Given the description of an element on the screen output the (x, y) to click on. 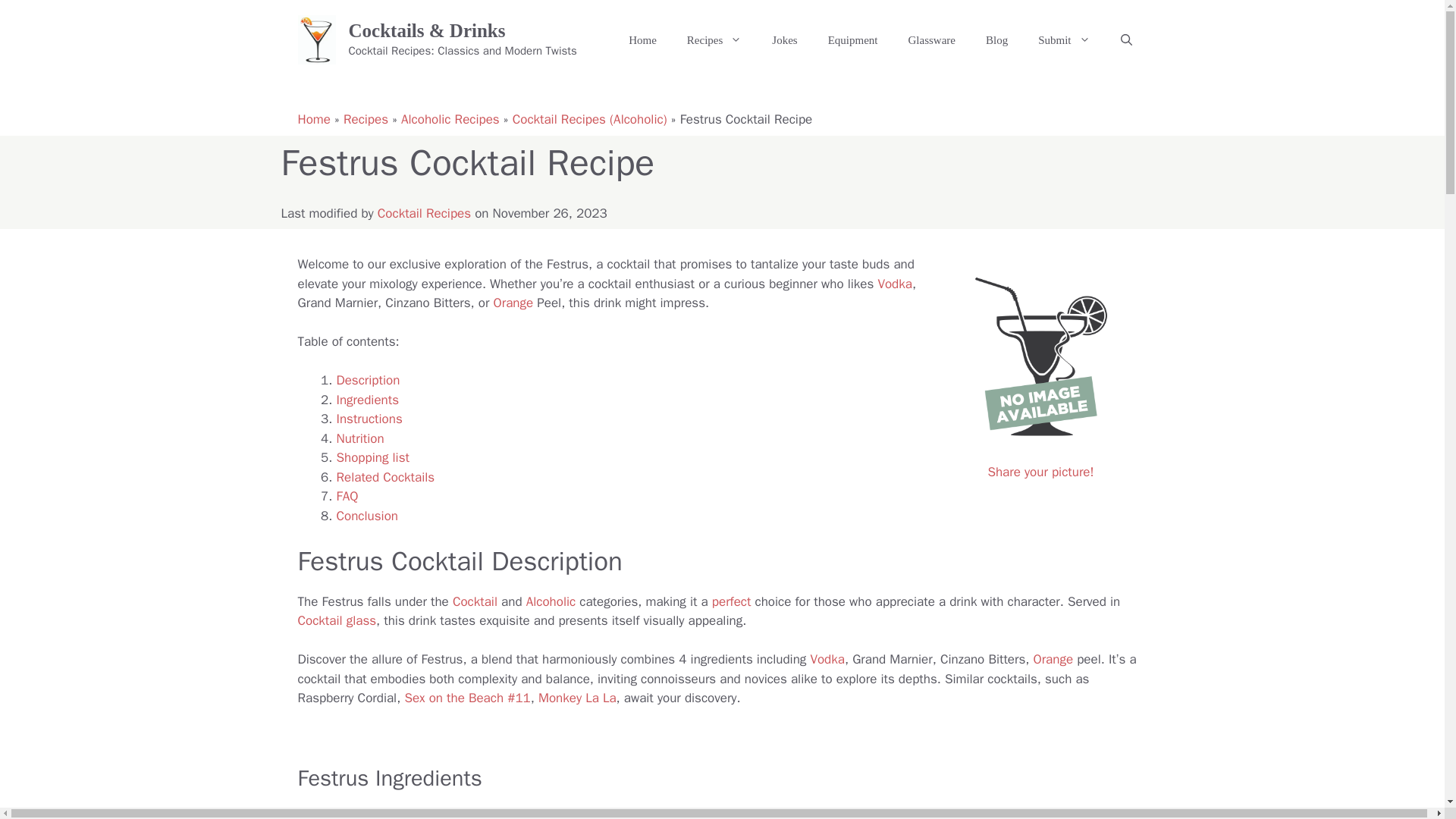
Jokes (784, 40)
Glassware (930, 40)
Blog (997, 40)
Home (641, 40)
Recipes (714, 40)
Equipment (852, 40)
